Given the description of an element on the screen output the (x, y) to click on. 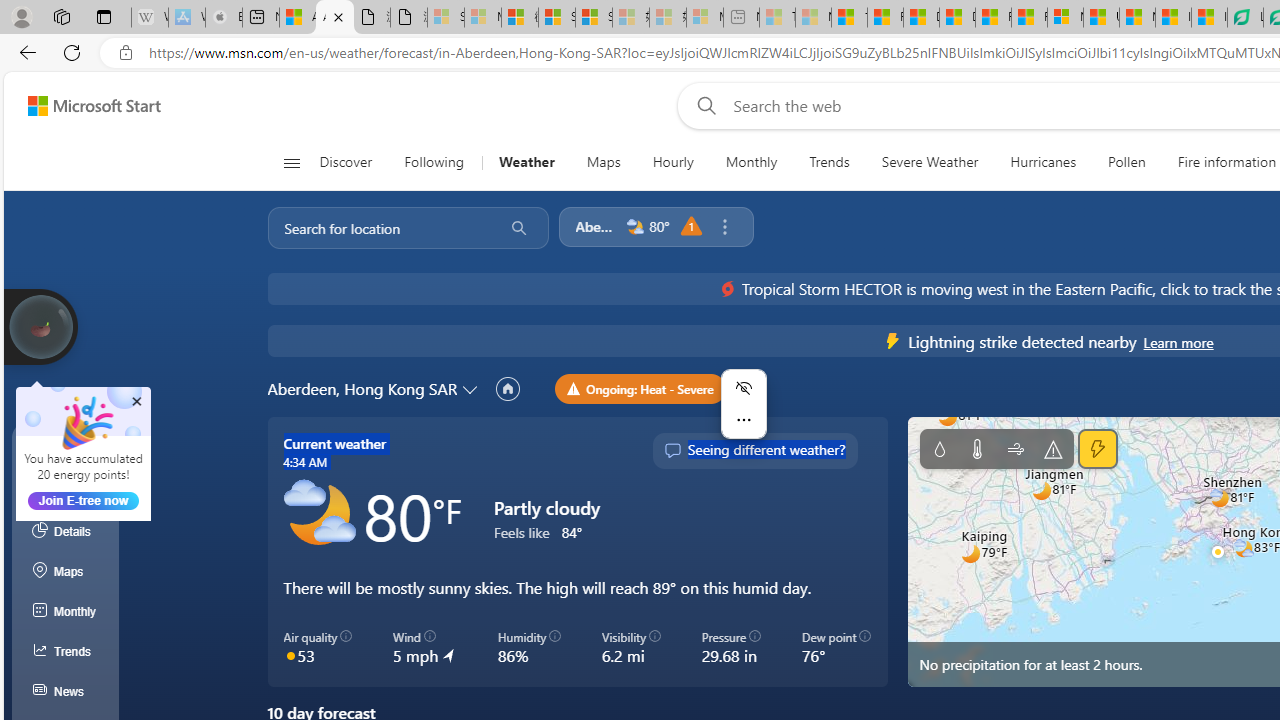
Trends (829, 162)
LendingTree - Compare Lenders (1245, 17)
Lightning (1097, 449)
More actions (743, 419)
Join E-tree now (83, 500)
Marine life - MSN - Sleeping (813, 17)
Class: aqiColorCycle-DS-EntryPoint1-1 (290, 654)
Join us in planting real trees to help our planet! (40, 325)
